Given the description of an element on the screen output the (x, y) to click on. 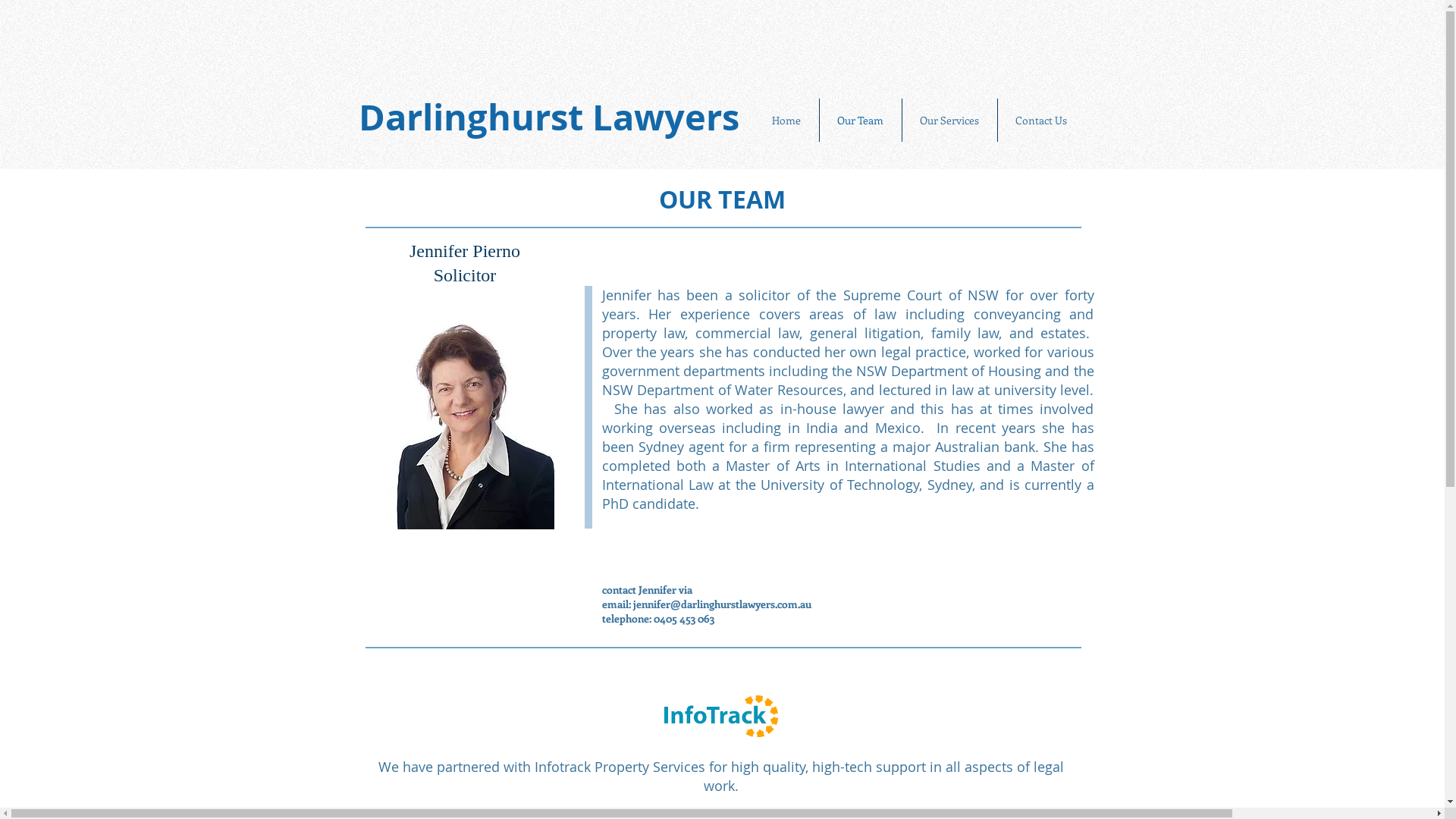
Contact Us Element type: text (1040, 119)
infotrack.png Element type: hover (721, 716)
Our Services Element type: text (949, 119)
jennifer@darlinghurstlawyers.com.au Element type: text (721, 603)
Our Team Element type: text (859, 119)
Home Element type: text (785, 119)
